Given the description of an element on the screen output the (x, y) to click on. 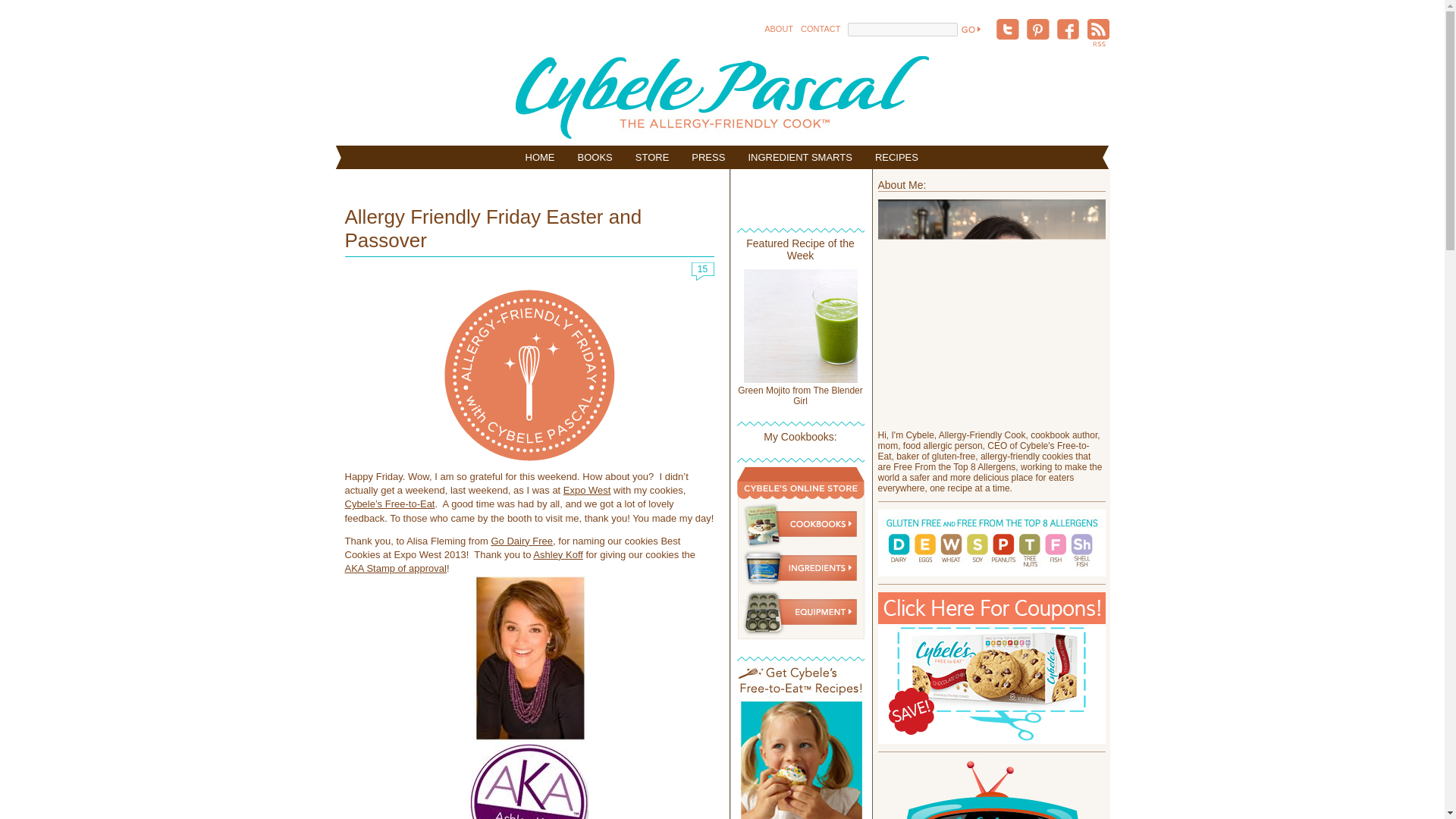
Green Mojito (799, 379)
Expo West (587, 490)
Go Dairy Free (521, 541)
PINTEREST (1037, 29)
FACEBOOK (1068, 29)
sidebar-online-store (800, 635)
15 (702, 274)
RECIPES (896, 156)
CONTACT (820, 28)
TWITTER (1007, 29)
